Given the description of an element on the screen output the (x, y) to click on. 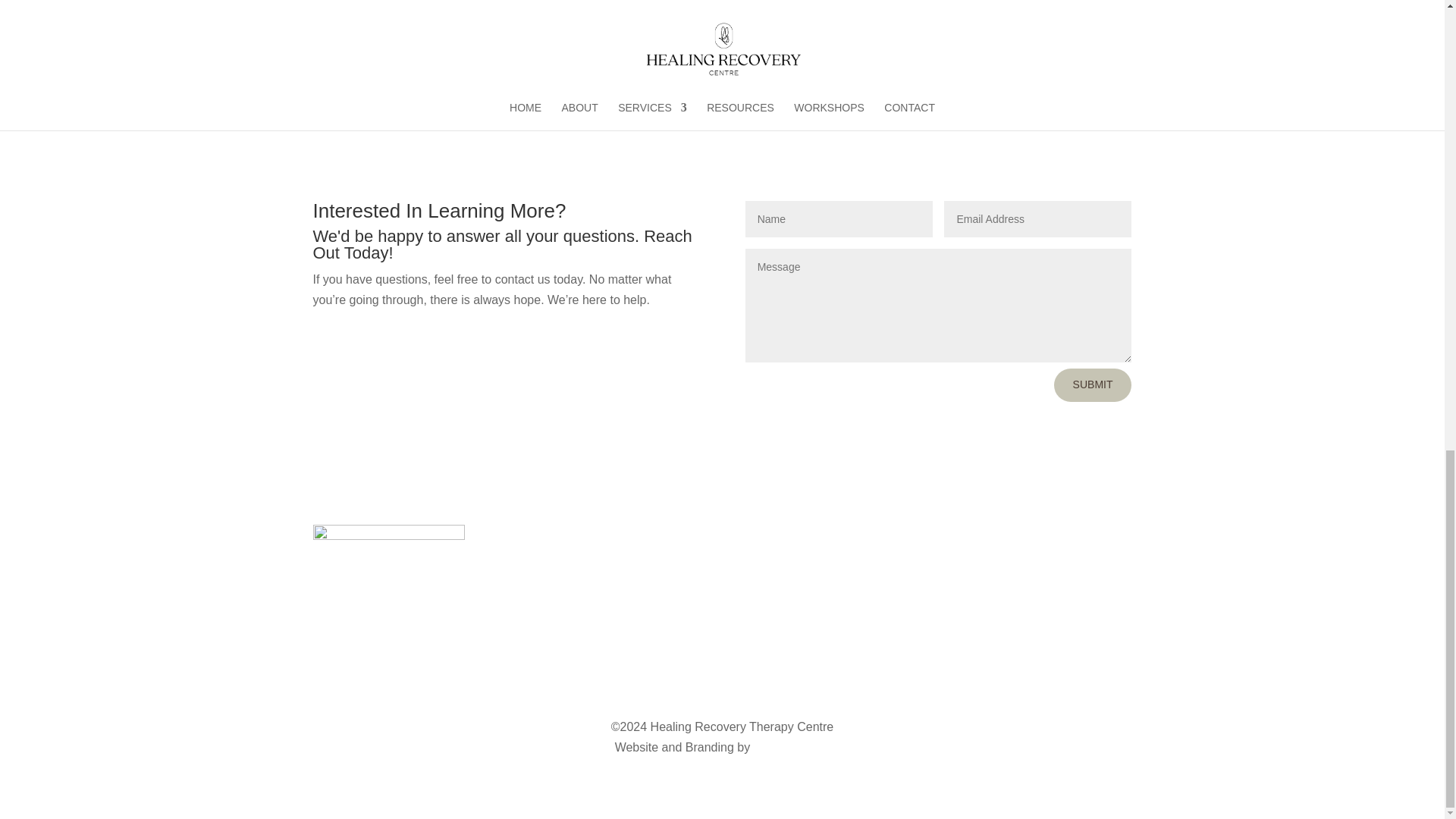
Sign Up Here (762, 13)
SUBMIT (1093, 385)
l (697, 18)
Eligible for coverage under extended health benefits (879, 60)
Web of Words (791, 747)
Follow on Instagram (972, 598)
